Given the description of an element on the screen output the (x, y) to click on. 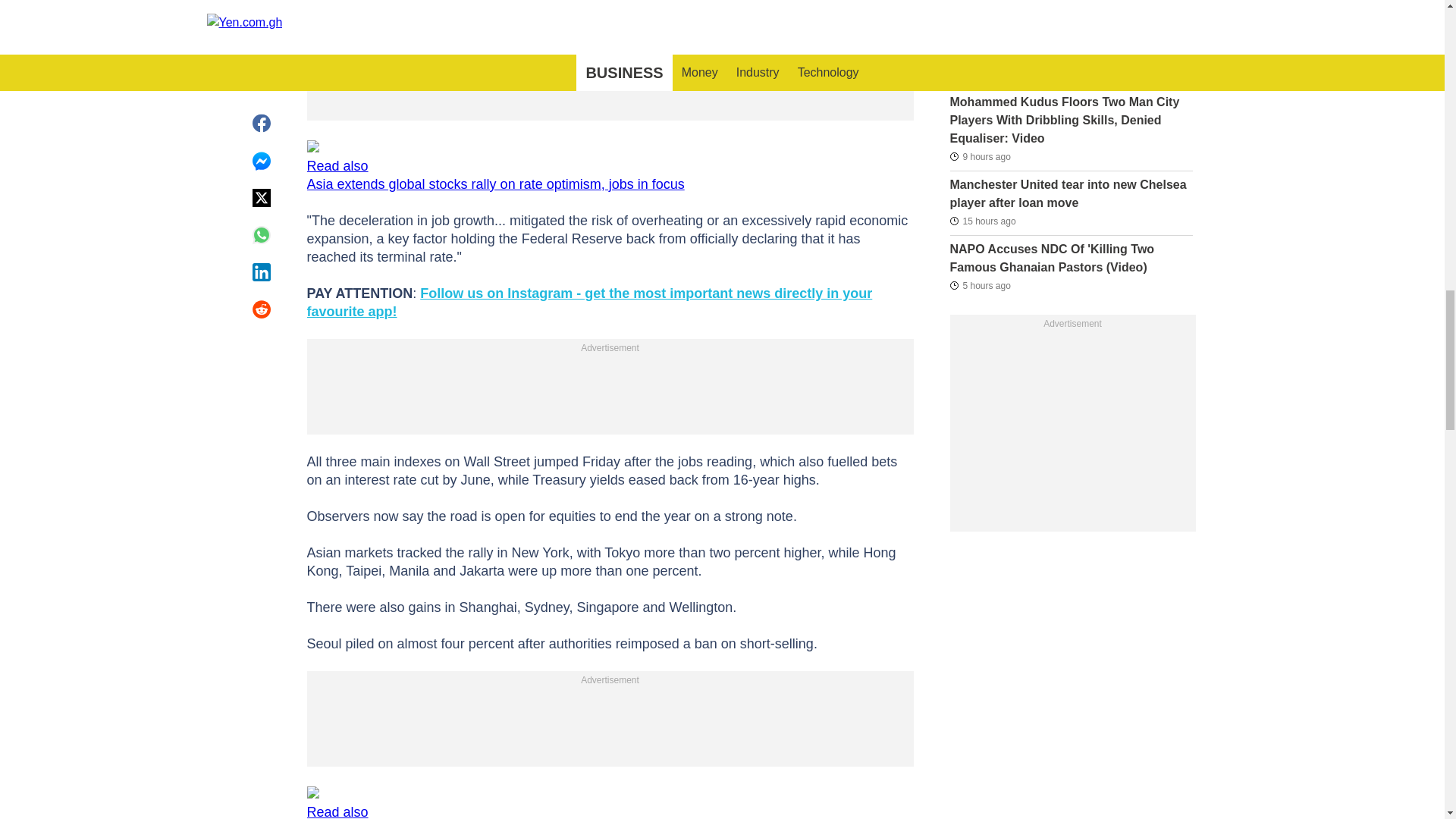
2024-09-01T08:57:56Z (981, 221)
2024-09-01T19:00:43Z (979, 285)
2024-09-01T09:59:16Z (981, 74)
2024-09-01T15:05:02Z (979, 156)
